Given the description of an element on the screen output the (x, y) to click on. 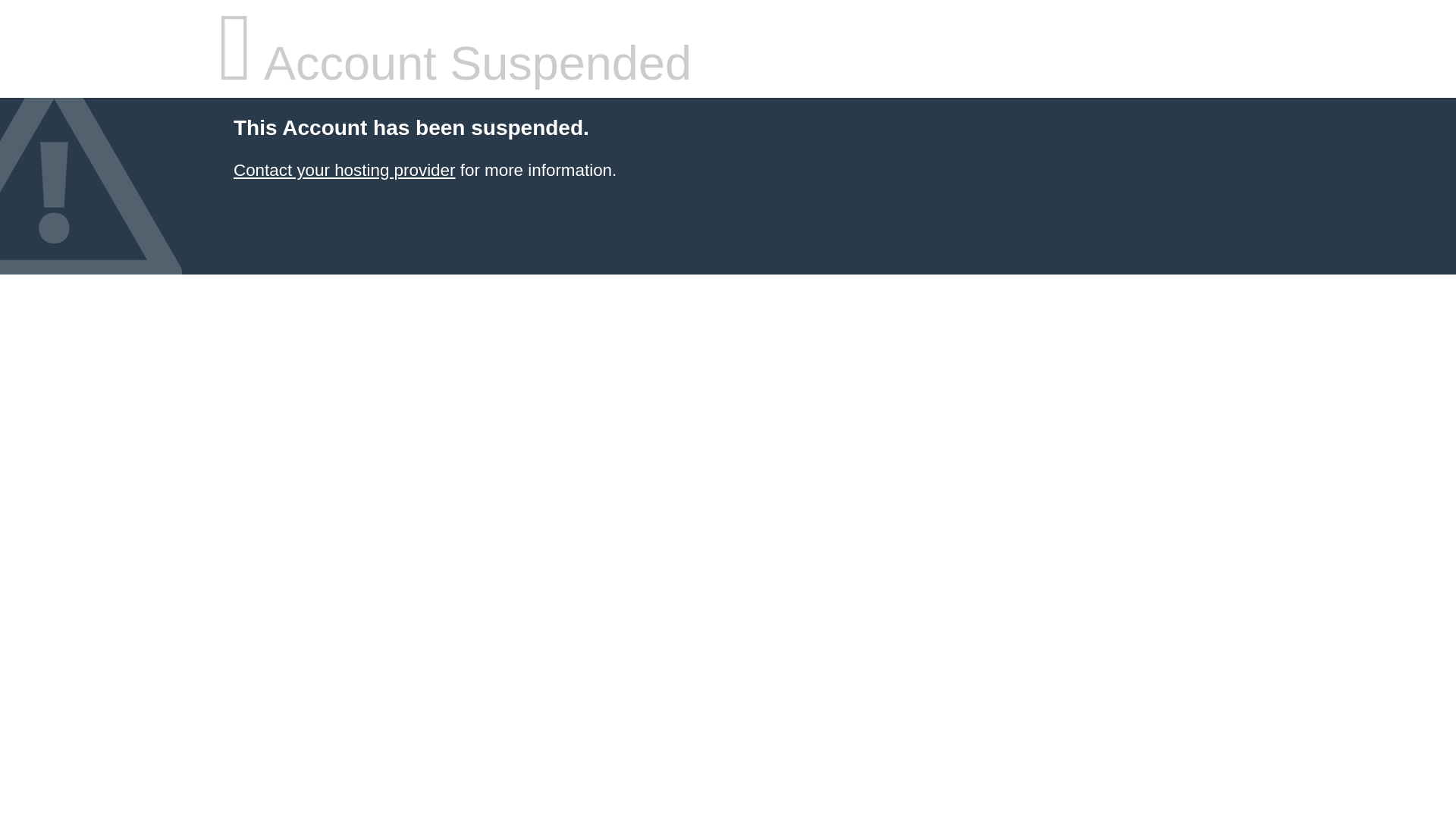
Contact your hosting provider (343, 169)
